Given the description of an element on the screen output the (x, y) to click on. 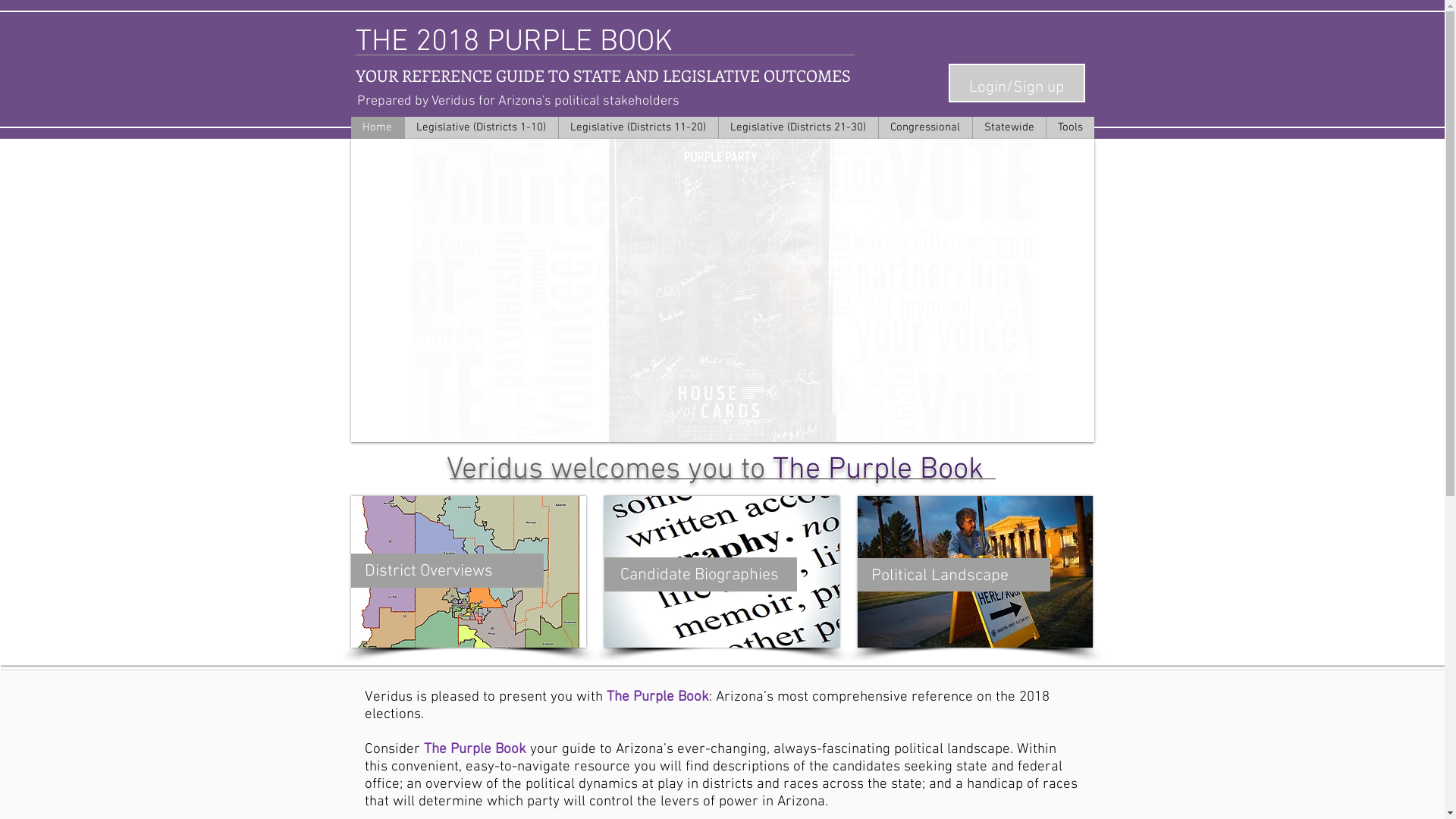
biography.jpg Element type: hover (720, 571)
AZdistrictsfw.png Element type: hover (467, 571)
Home Element type: text (376, 127)
Congressional Element type: text (925, 127)
Legislative (Districts 11-20) Element type: text (638, 127)
optnsteinfeedsdropboxphotoin140118770.jpg Element type: hover (974, 571)
Login/Sign up Element type: text (1015, 87)
THE 2016 PURPLE BOOK Element type: text (545, 152)
Legislative (Districts 21-30) Element type: text (797, 127)
Statewide Element type: text (1008, 127)
Legislative (Districts 1-10) Element type: text (480, 127)
